Given the description of an element on the screen output the (x, y) to click on. 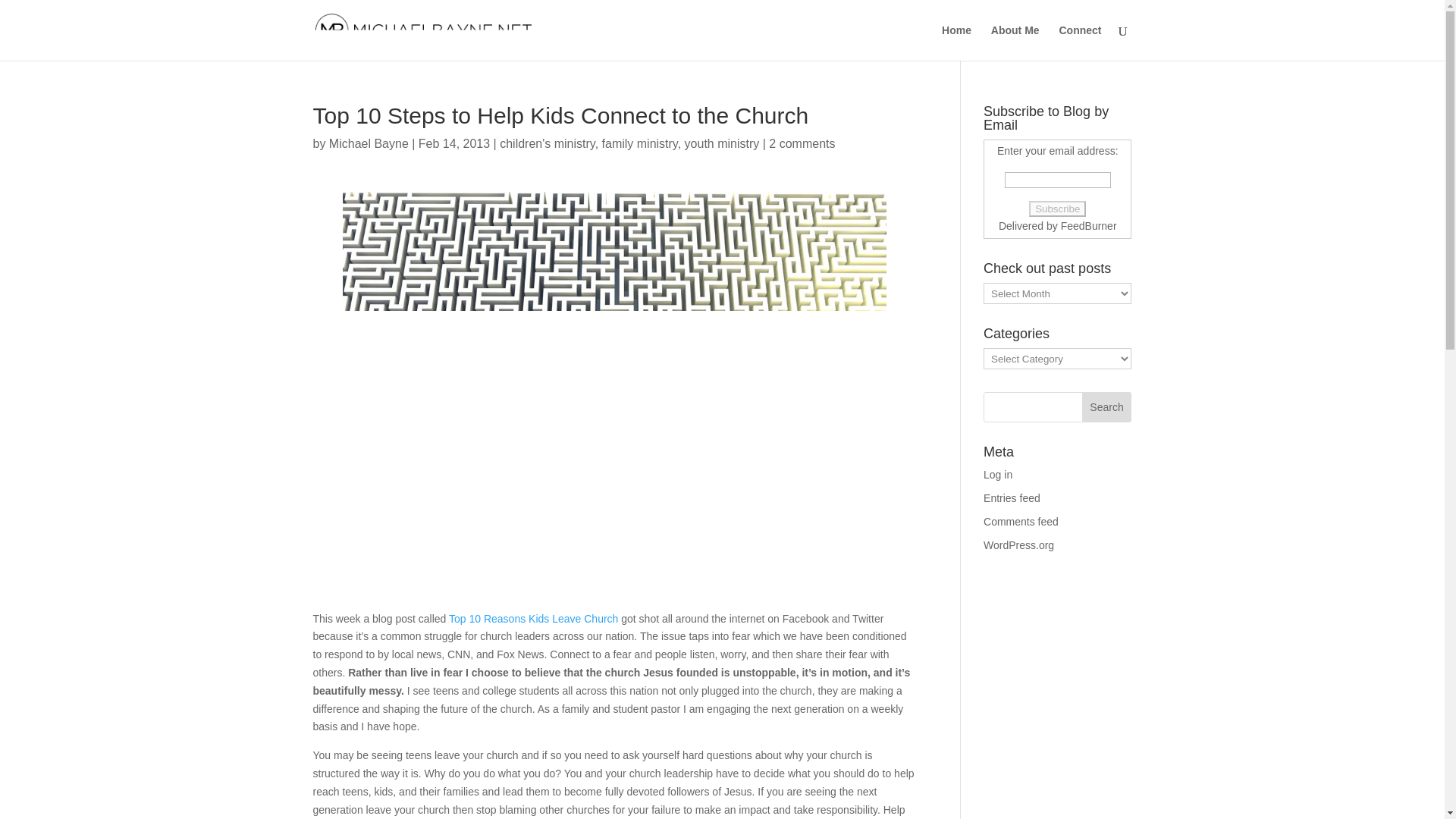
Posts by Michael Bayne (369, 143)
Comments feed (1021, 521)
family ministry (640, 143)
About Me (1015, 42)
2 comments (801, 143)
FeedBurner (1088, 225)
Search (1106, 407)
children's ministry (546, 143)
Entries feed (1012, 498)
Connect (1079, 42)
